Given the description of an element on the screen output the (x, y) to click on. 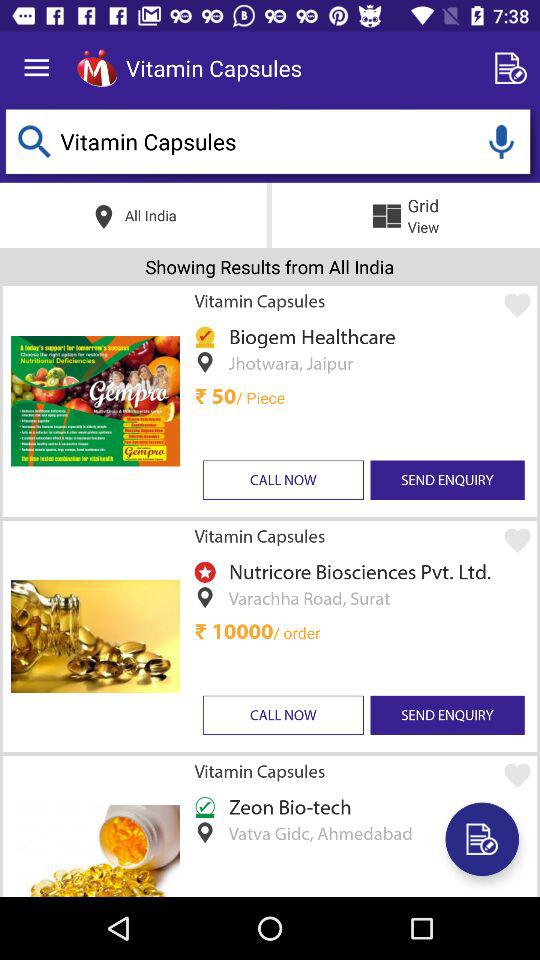
notes (514, 68)
